Given the description of an element on the screen output the (x, y) to click on. 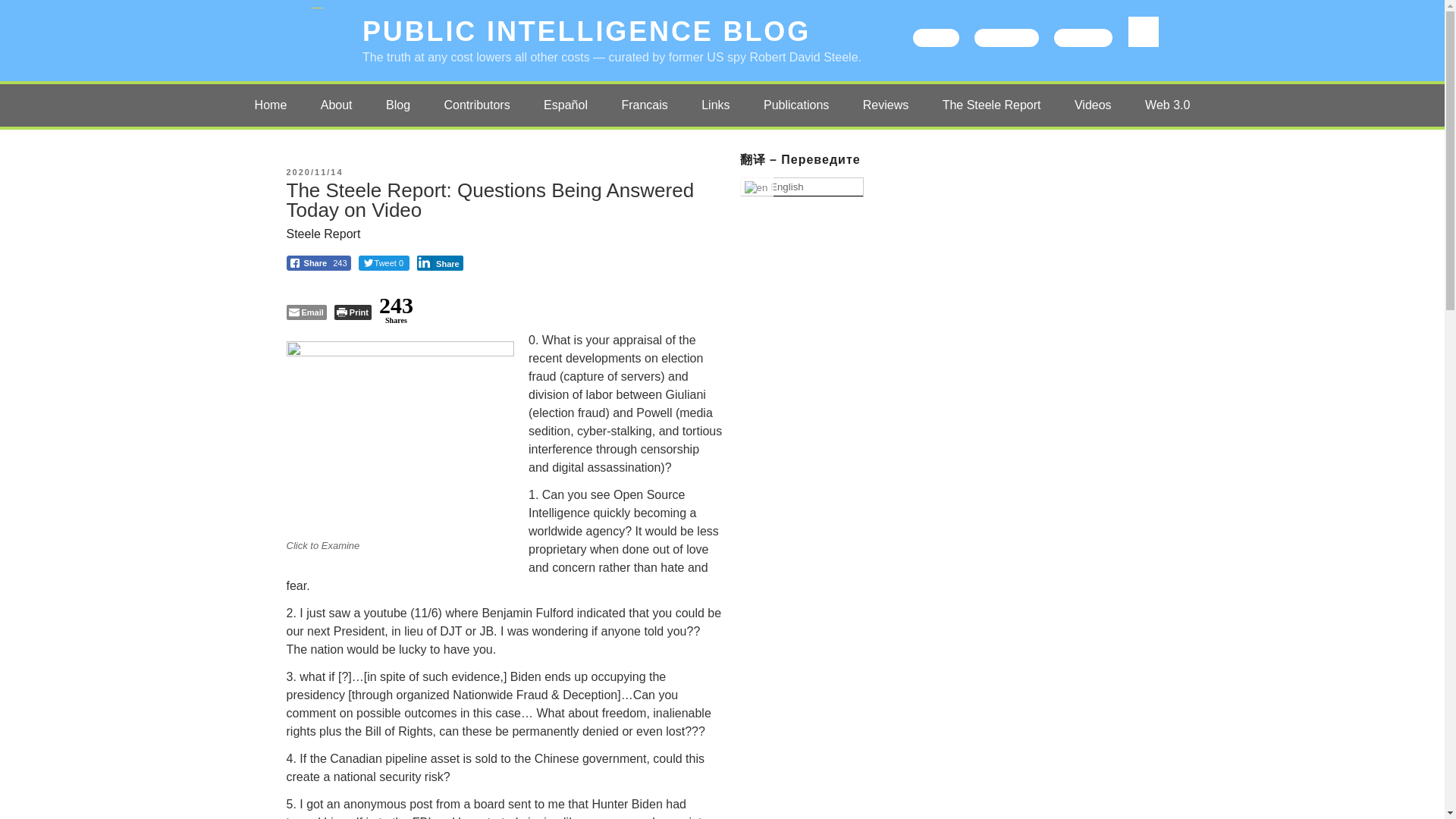
Blog (398, 105)
Email (306, 312)
Links (714, 105)
Facebook (1006, 37)
Publications (796, 105)
Tweet 0 (384, 263)
Videos (1092, 105)
English (801, 187)
Web 3.0 (1167, 105)
Print (352, 312)
Steele Report (323, 233)
The Steele Report (992, 105)
PUBLIC INTELLIGENCE BLOG (586, 30)
Contributors (477, 105)
